Given the description of an element on the screen output the (x, y) to click on. 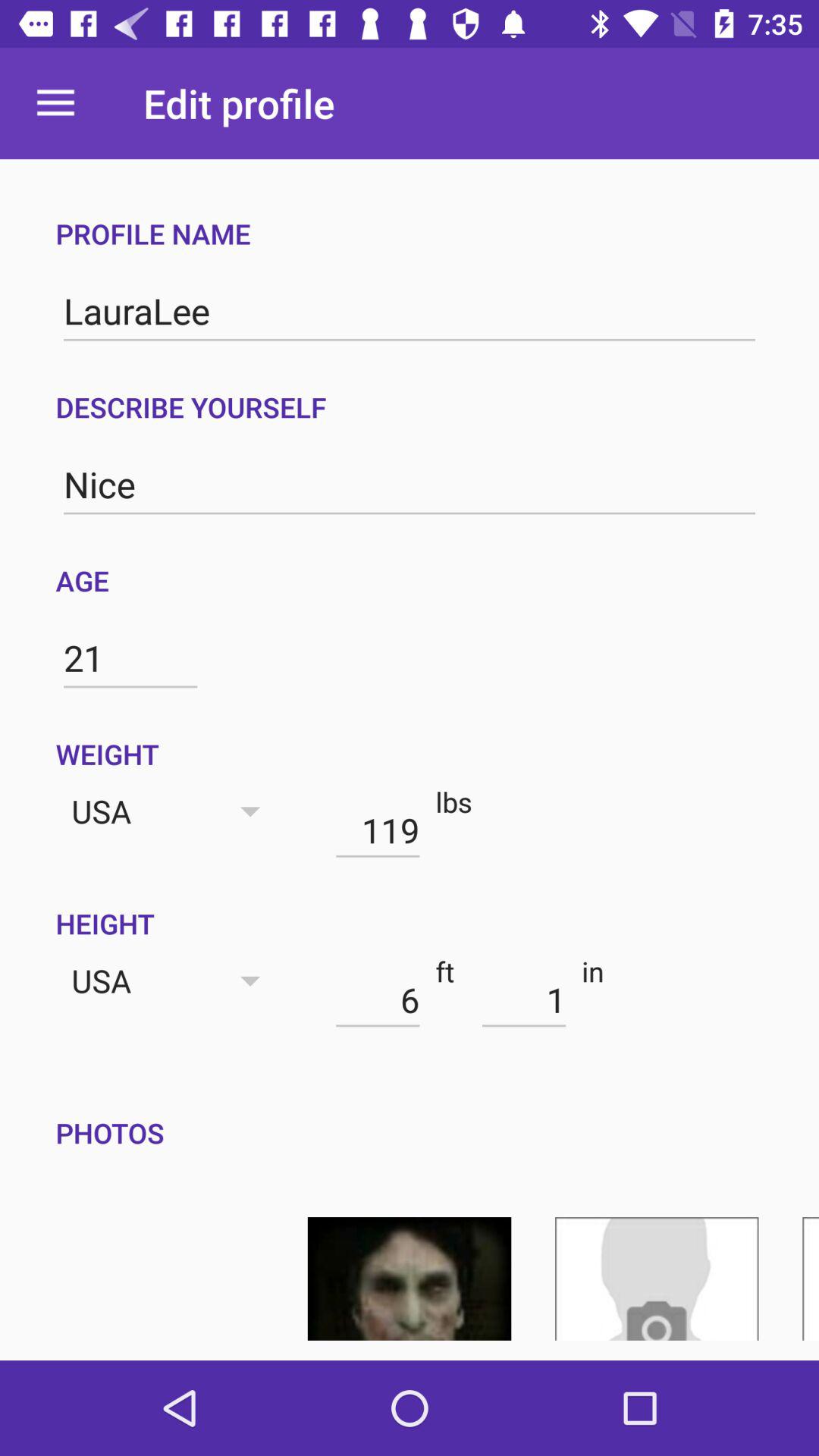
turn on icon above the describe yourself icon (409, 311)
